Given the description of an element on the screen output the (x, y) to click on. 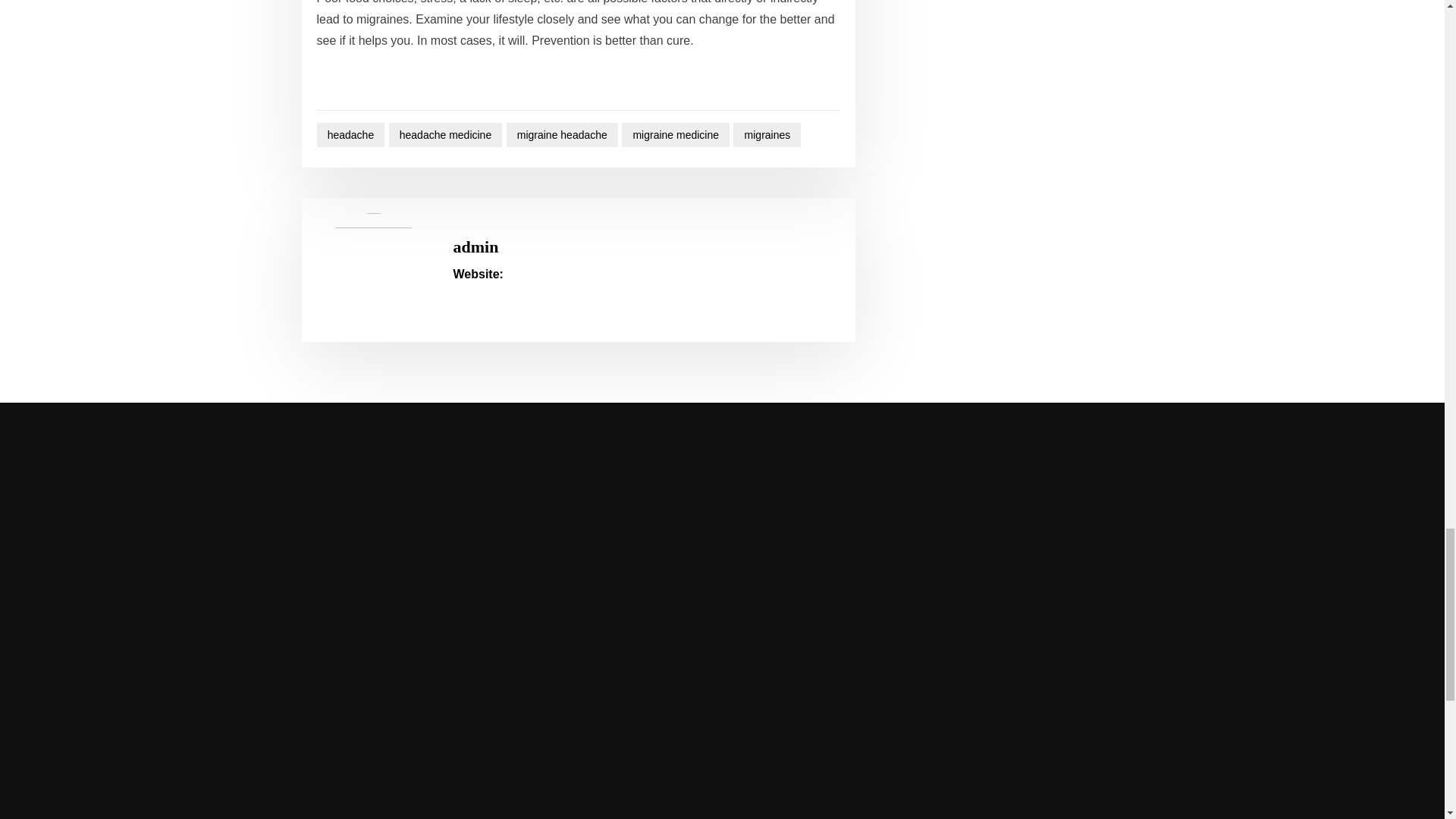
migraine medicine (675, 135)
migraines (766, 135)
headache (351, 135)
headache medicine (445, 135)
migraine headache (561, 135)
